Given the description of an element on the screen output the (x, y) to click on. 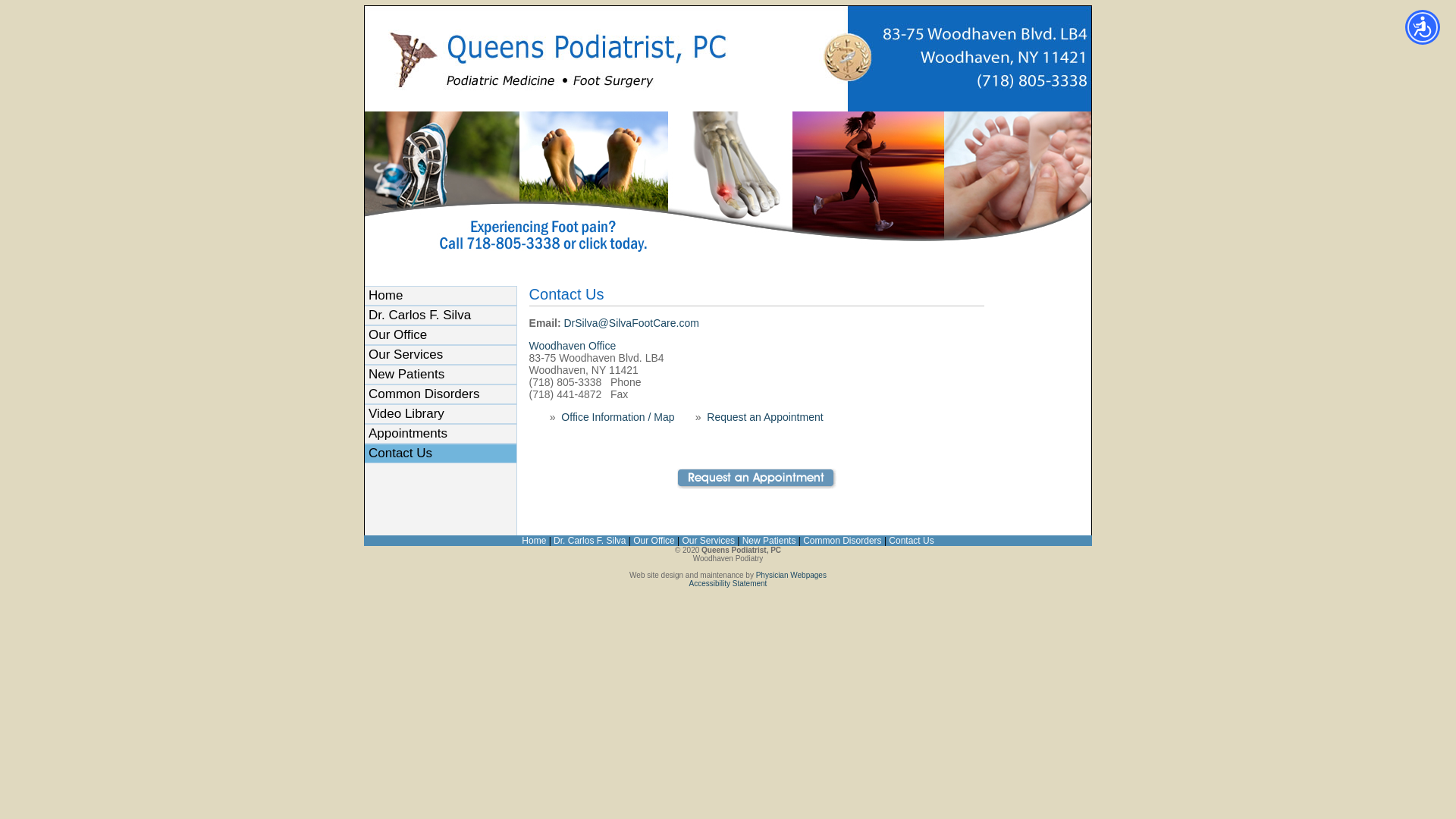
Accessibility Statement Element type: text (728, 583)
Contact Us Element type: text (910, 540)
Physician Webpages Element type: text (791, 575)
DrSilva@SilvaFootCare.com Element type: text (630, 322)
Our Services Element type: text (440, 354)
Our Services Element type: text (708, 540)
New Patients Element type: text (769, 540)
New Patients Element type: text (440, 374)
Common Disorders Element type: text (440, 393)
Woodhaven Office Element type: text (572, 345)
Common Disorders Element type: text (842, 540)
Appointments Element type: text (440, 433)
Our Office Element type: text (440, 334)
Home Element type: text (533, 540)
Office Information / Map Element type: text (617, 417)
Dr. Carlos F. Silva Element type: text (440, 315)
Video Library Element type: text (440, 413)
Dr. Carlos F. Silva Element type: text (589, 540)
Contact Us Element type: text (440, 453)
Our Office Element type: text (653, 540)
Home Element type: text (440, 295)
Request an Appointment Element type: text (764, 417)
